Given the description of an element on the screen output the (x, y) to click on. 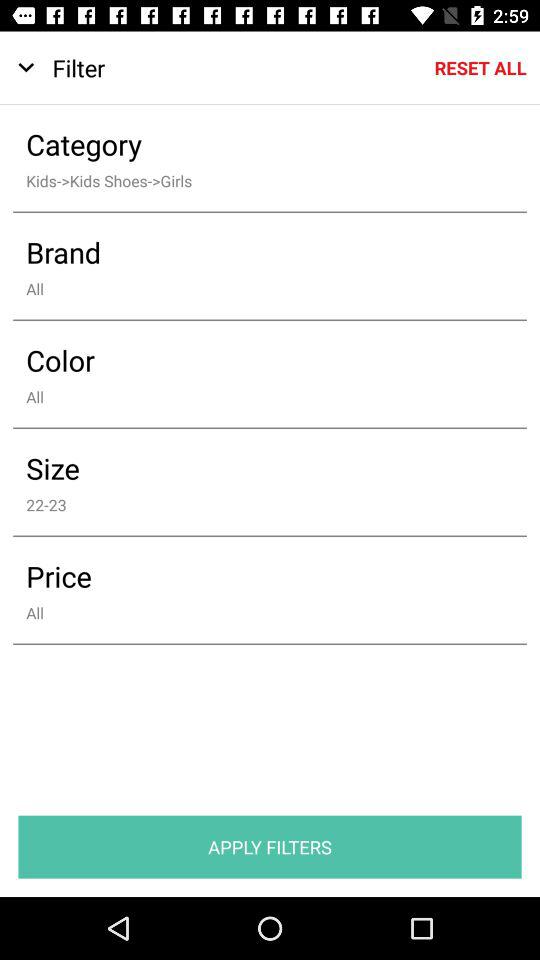
open icon above the 22-23 icon (256, 467)
